Given the description of an element on the screen output the (x, y) to click on. 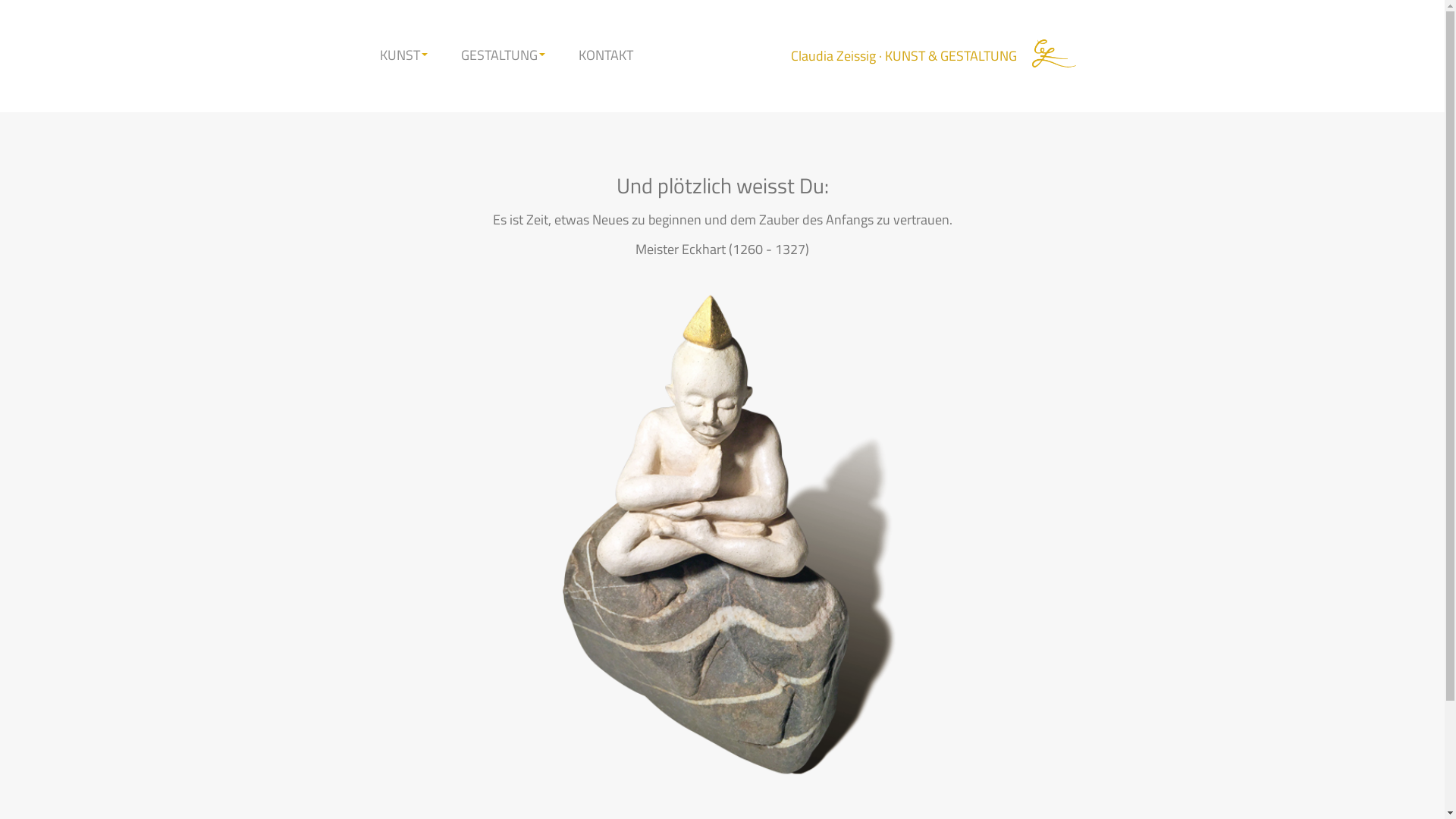
KONTAKT Element type: text (605, 55)
